Given the description of an element on the screen output the (x, y) to click on. 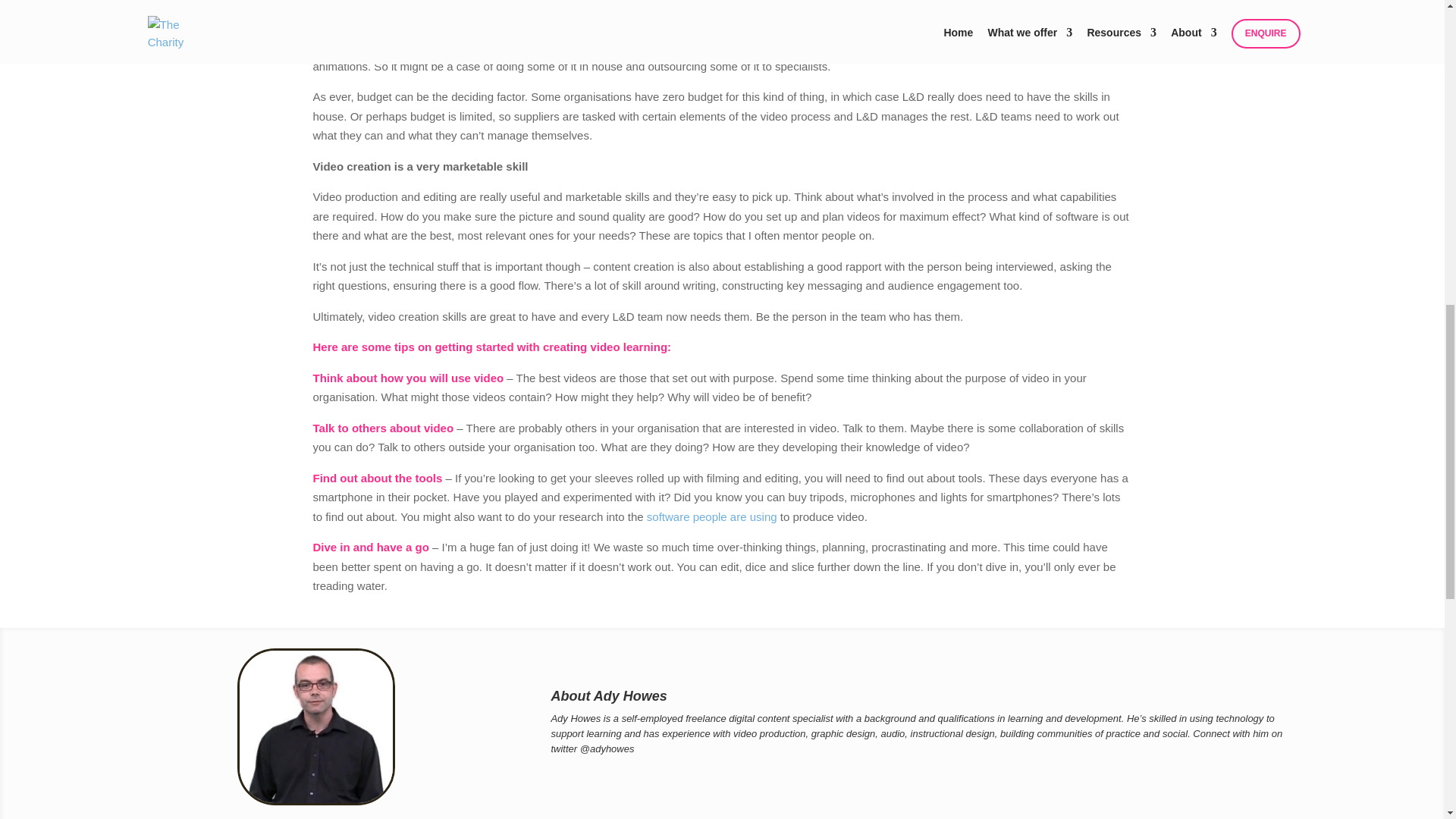
Ady Howes (574, 717)
software people are using (711, 515)
